Given the description of an element on the screen output the (x, y) to click on. 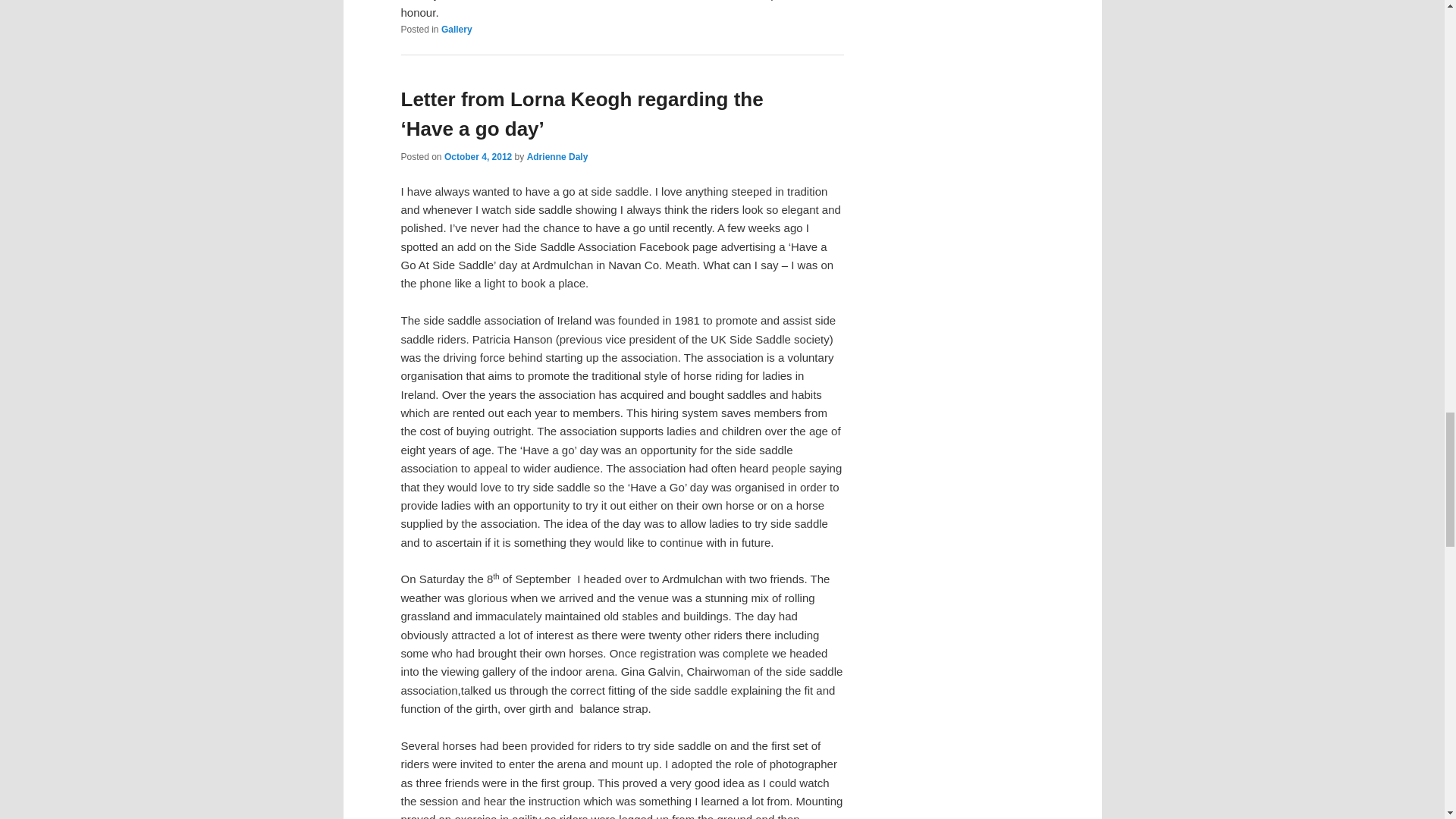
9:10 am (478, 156)
View all posts by Adrienne Daly (557, 156)
